Given the description of an element on the screen output the (x, y) to click on. 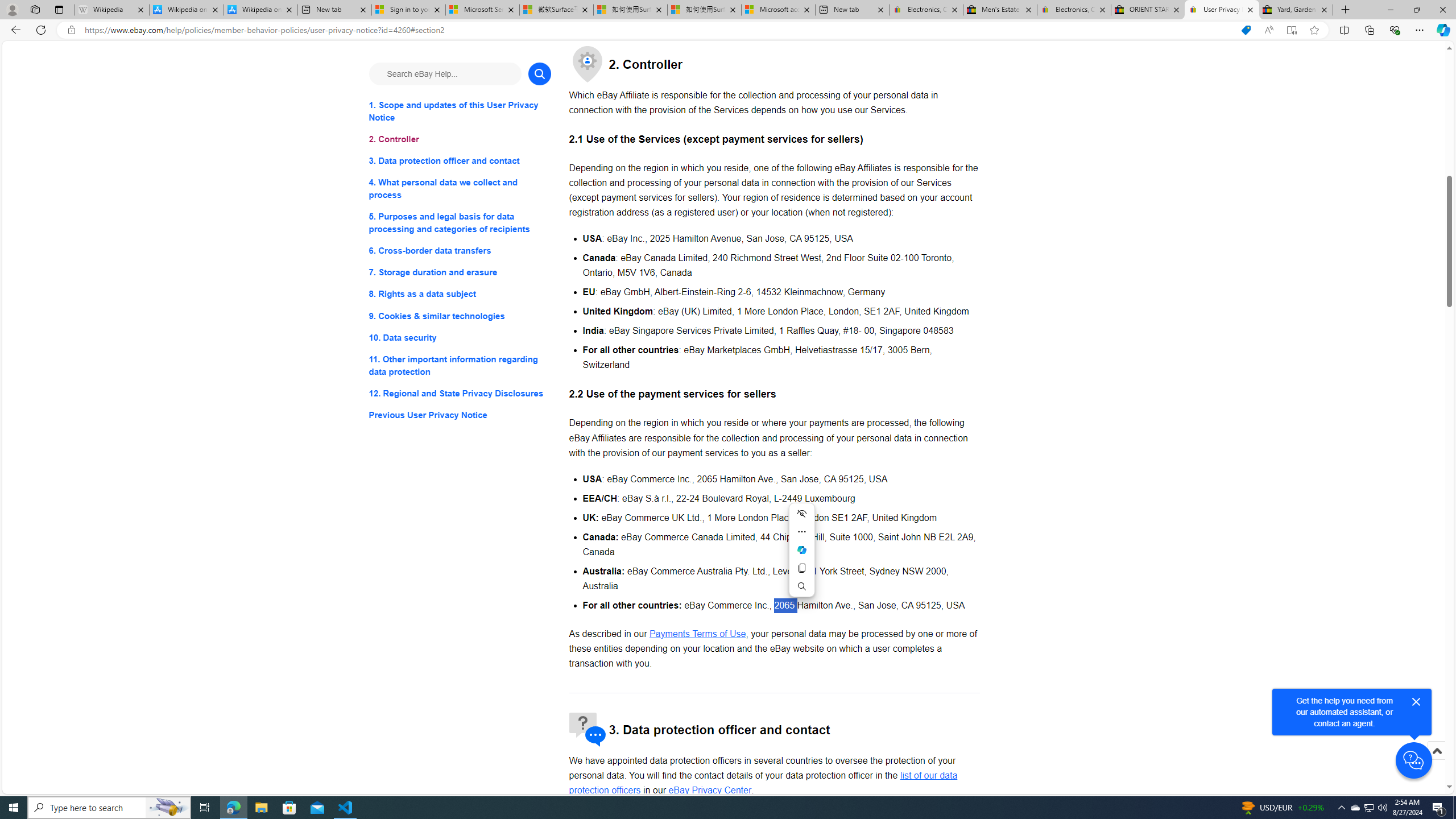
12. Regional and State Privacy Disclosures (459, 392)
11. Other important information regarding data protection (459, 365)
3. Data protection officer and contact (459, 160)
6. Cross-border data transfers (459, 250)
7. Storage duration and erasure (459, 272)
4. What personal data we collect and process (459, 189)
Hide menu (801, 513)
